Given the description of an element on the screen output the (x, y) to click on. 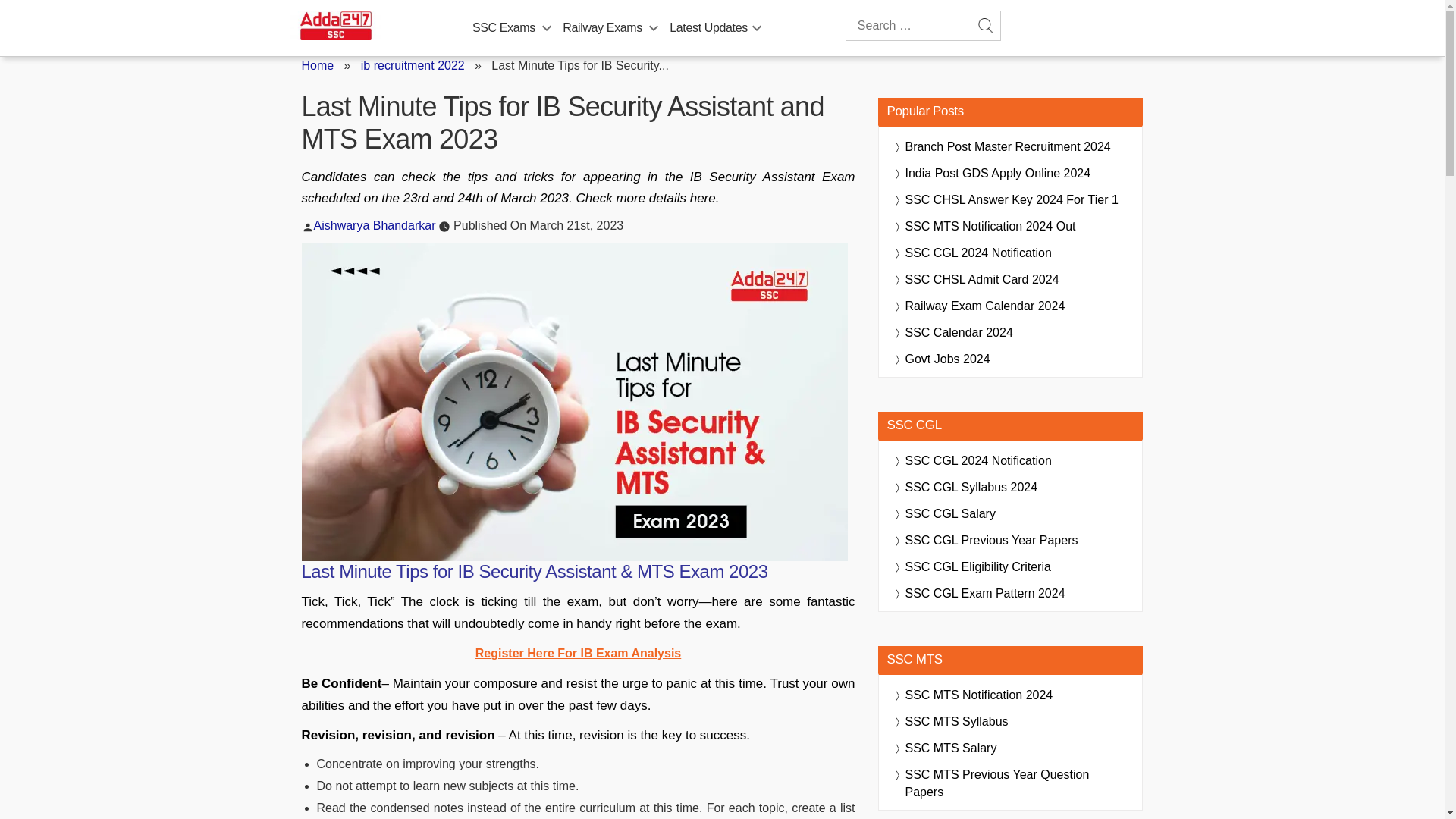
Latest Updates (708, 28)
Search (986, 25)
Railway Exams (602, 28)
SSC Exams (503, 28)
Register Here For IB Exam Analysis (578, 653)
ib recruitment 2022 (412, 65)
Search (986, 25)
Home (317, 65)
Aishwarya Bhandarkar (374, 225)
Search (986, 25)
